Given the description of an element on the screen output the (x, y) to click on. 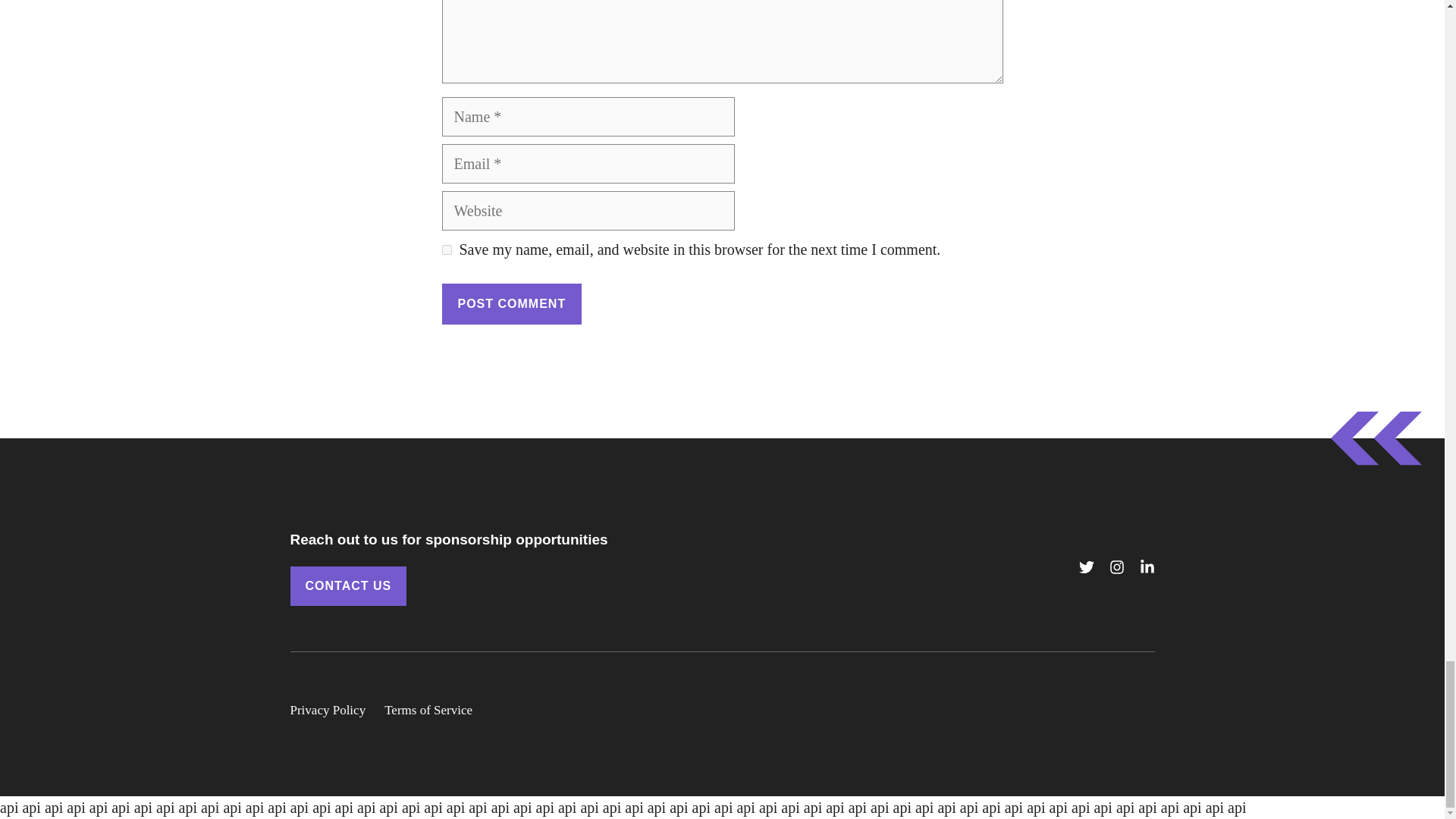
Privacy Policy (327, 710)
CONTACT US (347, 586)
yes (446, 249)
Post Comment (510, 303)
Terms of Service (427, 710)
Post Comment (510, 303)
